Given the description of an element on the screen output the (x, y) to click on. 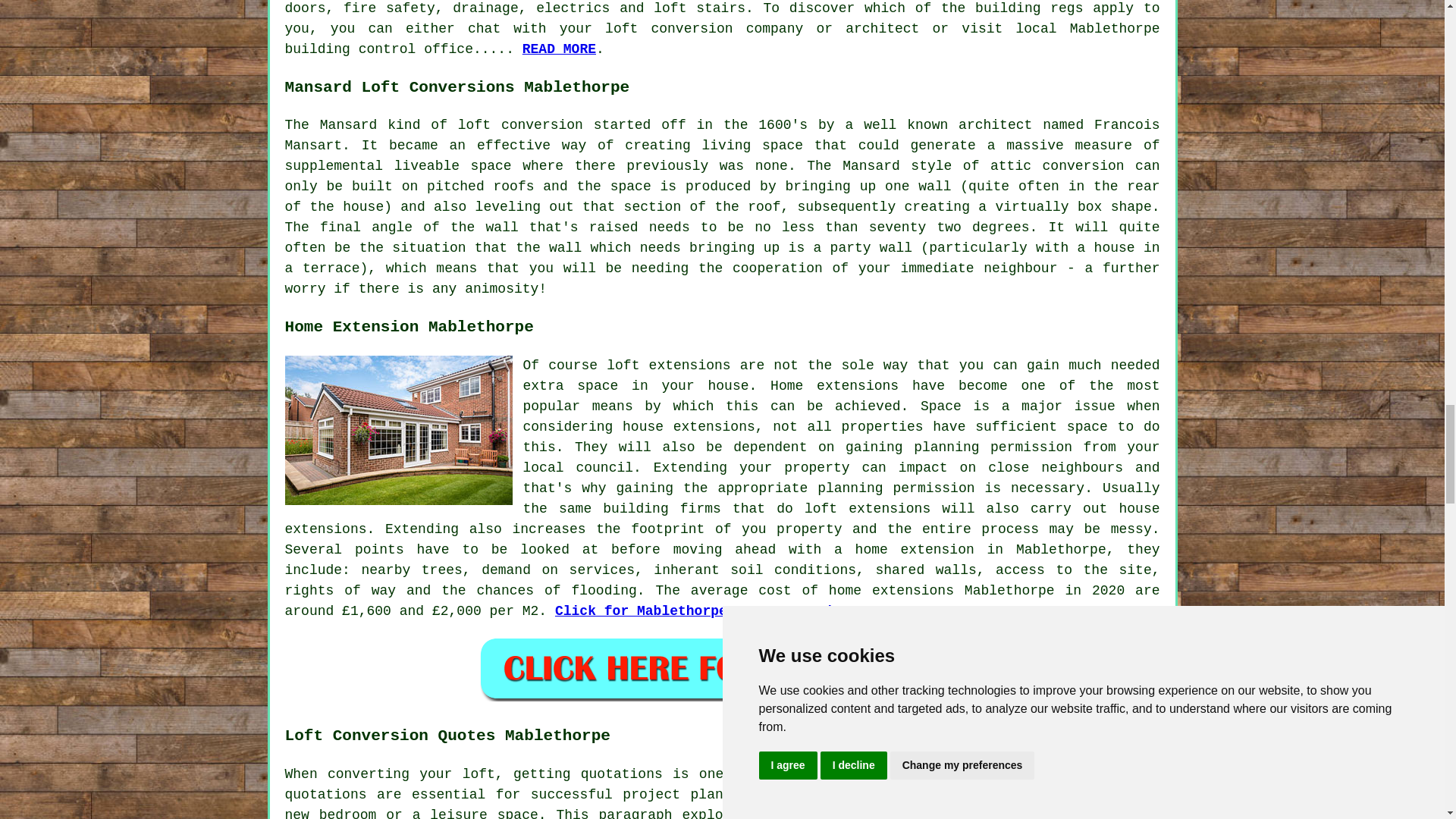
Building Regulations Relating to Loft Conversion (558, 48)
